Given the description of an element on the screen output the (x, y) to click on. 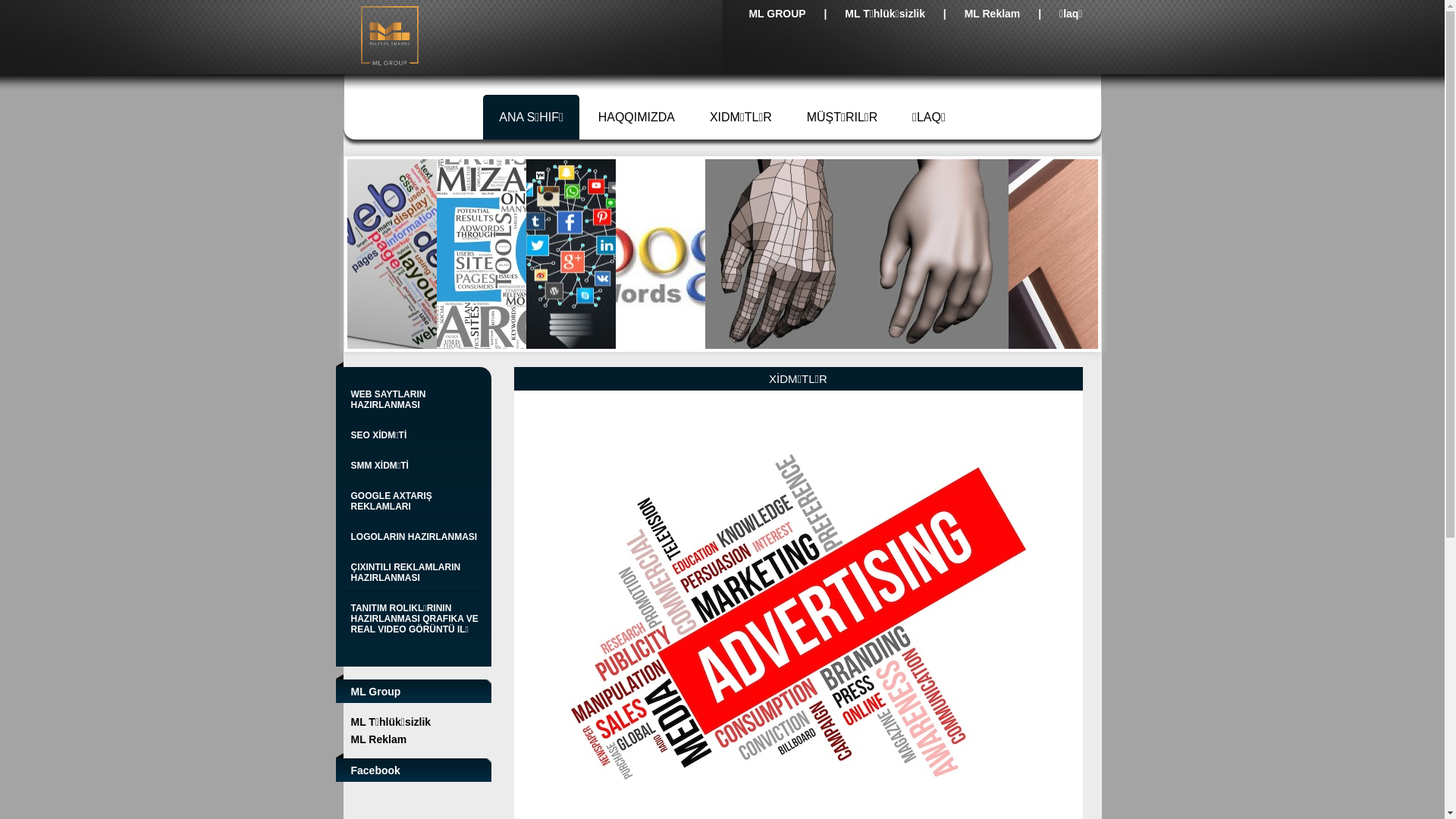
ML Group Element type: text (375, 691)
WEB SAYTLARIN HAZIRLANMASI Element type: text (414, 399)
ML GROUP Element type: text (776, 13)
LOGOLARIN HAZIRLANMASI Element type: text (414, 536)
ML Reklam Element type: text (992, 13)
ML Reklam Element type: text (390, 739)
HAQQIMIZDA Element type: text (636, 116)
